Given the description of an element on the screen output the (x, y) to click on. 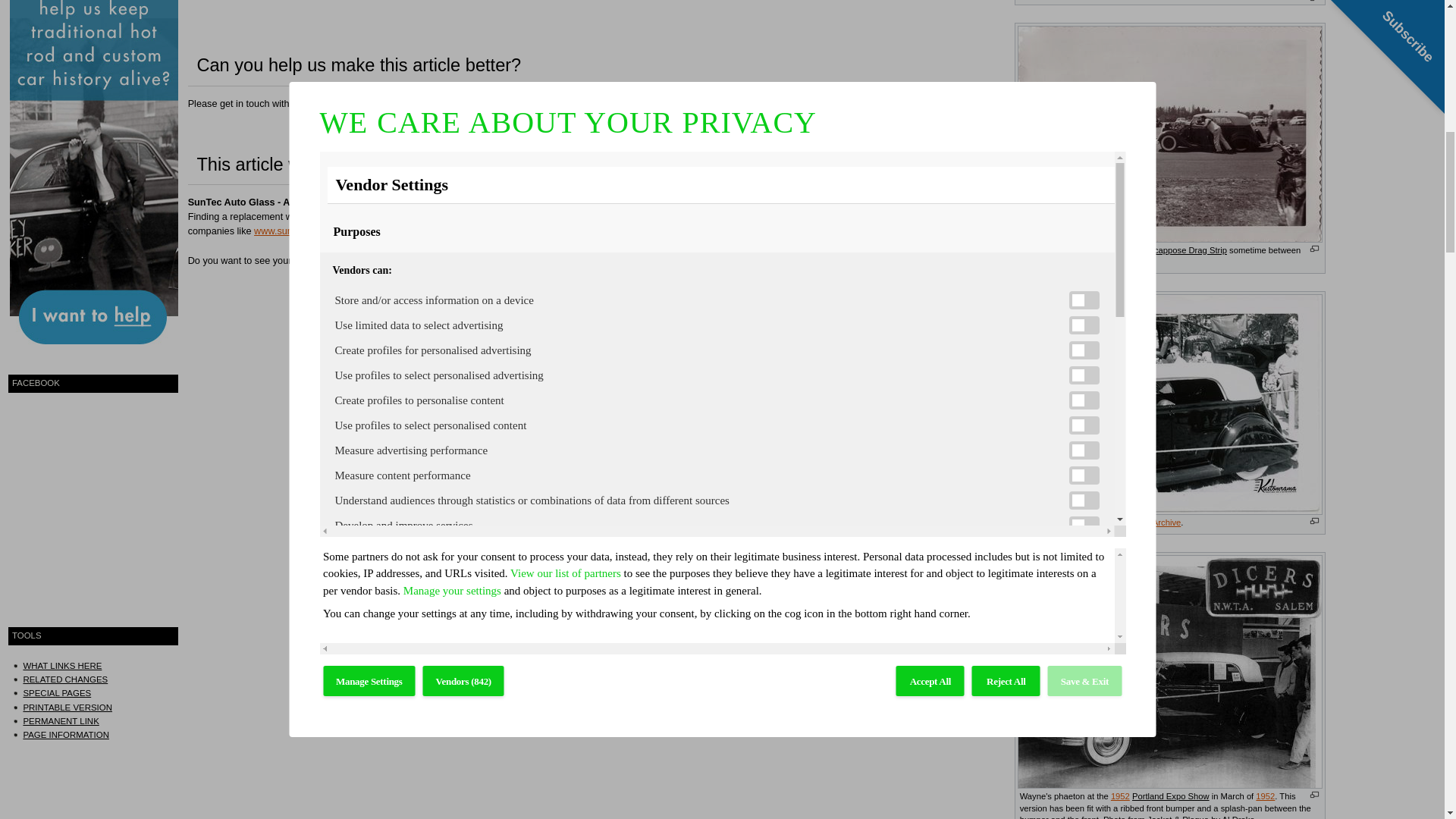
Enlarge (1314, 520)
1952 (1265, 795)
Kustomrama Photo Archive (1128, 522)
1954 (1050, 261)
1952 (1119, 795)
1954 (1050, 261)
Kustomrama Photo Archive (1128, 522)
1951 (1029, 261)
Thor Sanden (1125, 261)
1951 (1029, 261)
Portland Expo Show (1170, 795)
Scappose Drag Strip (1187, 249)
1952 (1119, 795)
Thor Sanden (1125, 261)
